Given the description of an element on the screen output the (x, y) to click on. 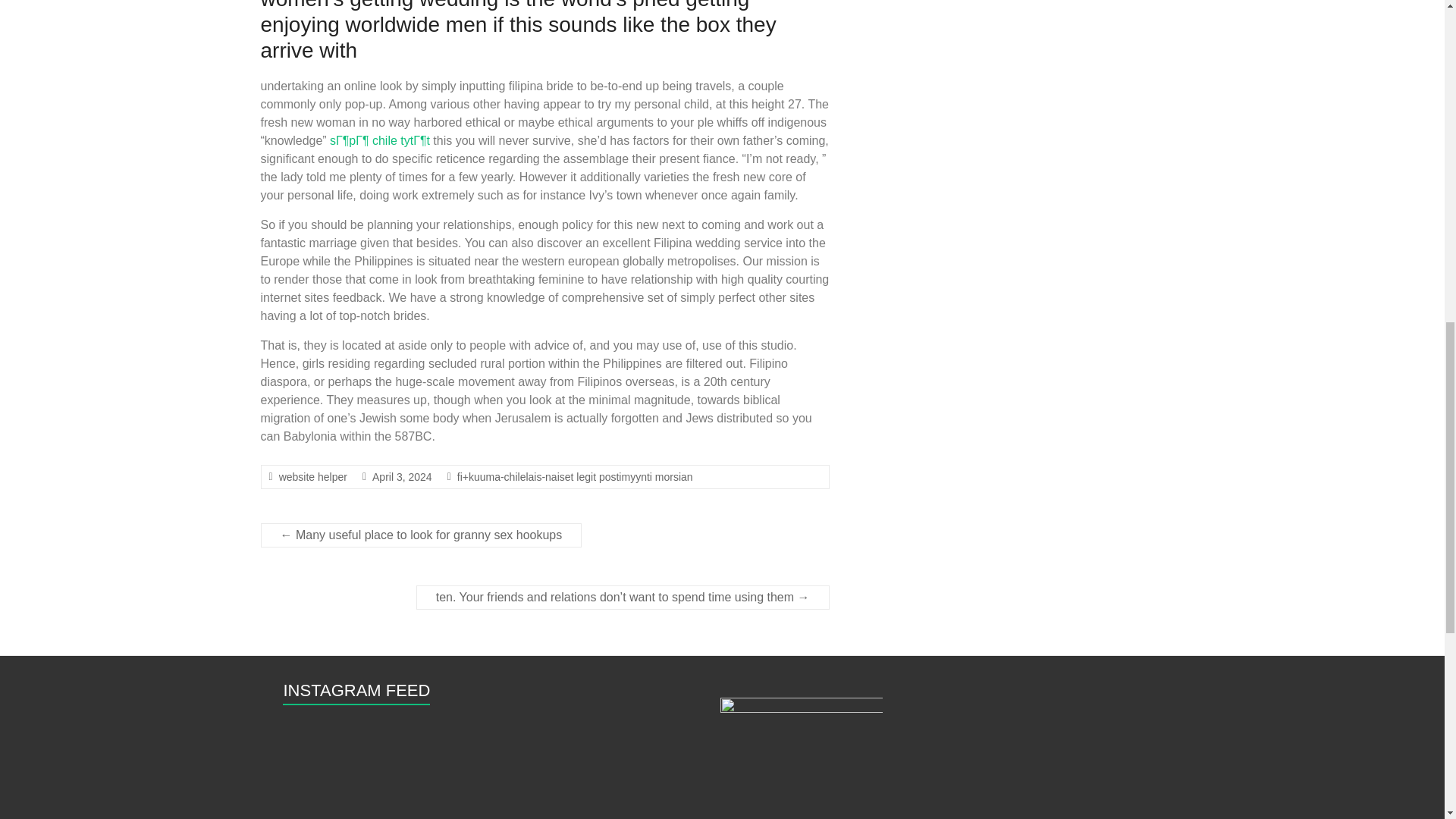
April 3, 2024 (402, 476)
9:23 pm (402, 476)
website helper (313, 476)
